Given the description of an element on the screen output the (x, y) to click on. 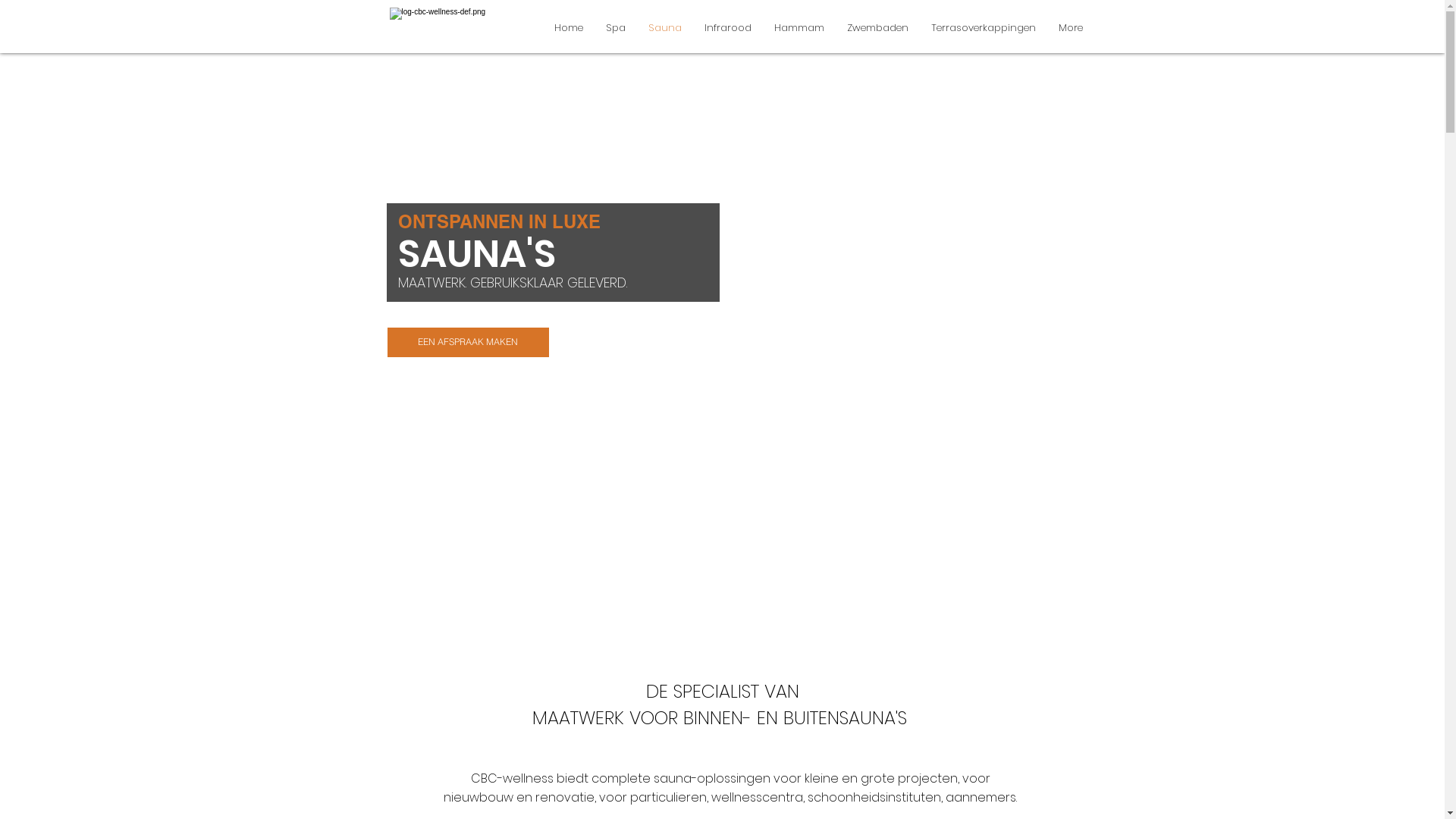
Zwembaden Element type: text (877, 27)
Home Element type: text (568, 27)
Sauna Element type: text (665, 27)
Infrarood Element type: text (727, 27)
Terrasoverkappingen Element type: text (982, 27)
Spa Element type: text (615, 27)
EEN AFSPRAAK MAKEN Element type: text (467, 341)
Hammam Element type: text (798, 27)
